Given the description of an element on the screen output the (x, y) to click on. 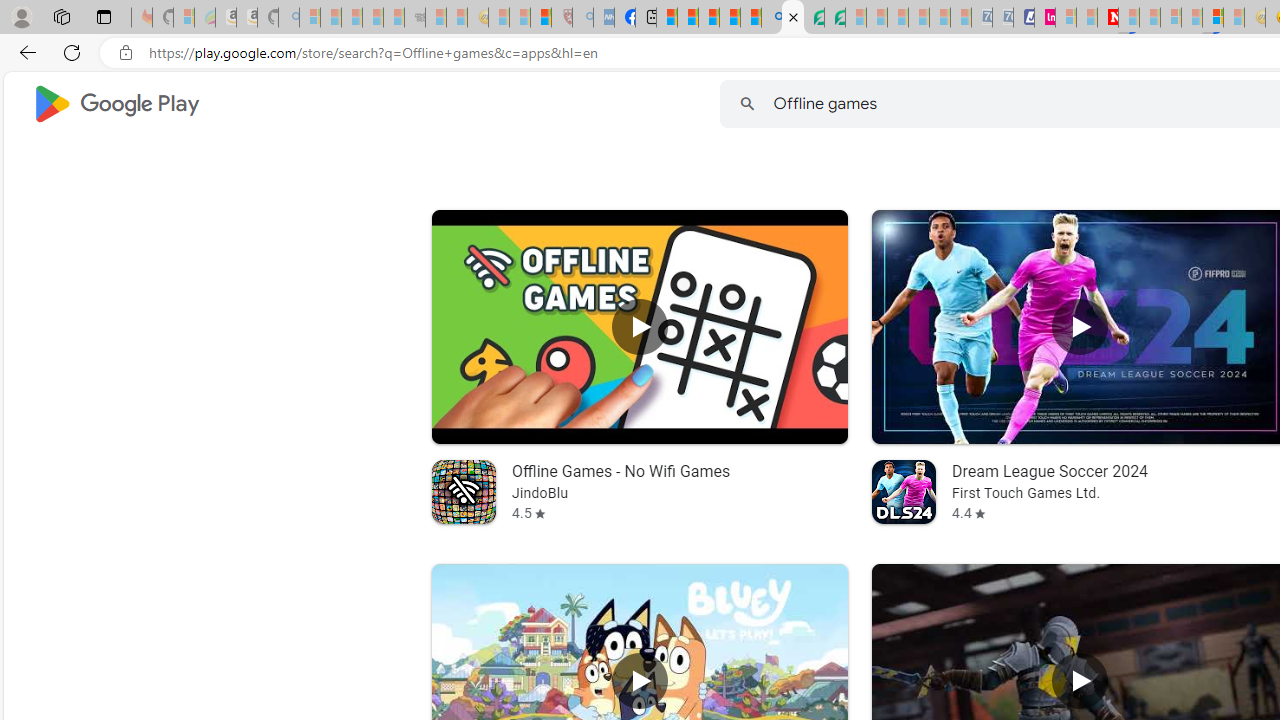
Offline games - Android Apps on Google Play (792, 17)
Google Play logo (115, 104)
google - Search (771, 17)
Latest Politics News & Archive | Newsweek.com (1107, 17)
NCL Adult Asthma Inhaler Choice Guideline - Sleeping (603, 17)
Local - MSN (541, 17)
Microsoft Word - consumer-privacy address update 2.2021 (834, 17)
Terms of Use Agreement (813, 17)
Workspaces (61, 16)
Refresh (72, 52)
Play Bluey: Let's Play! (638, 681)
